Given the description of an element on the screen output the (x, y) to click on. 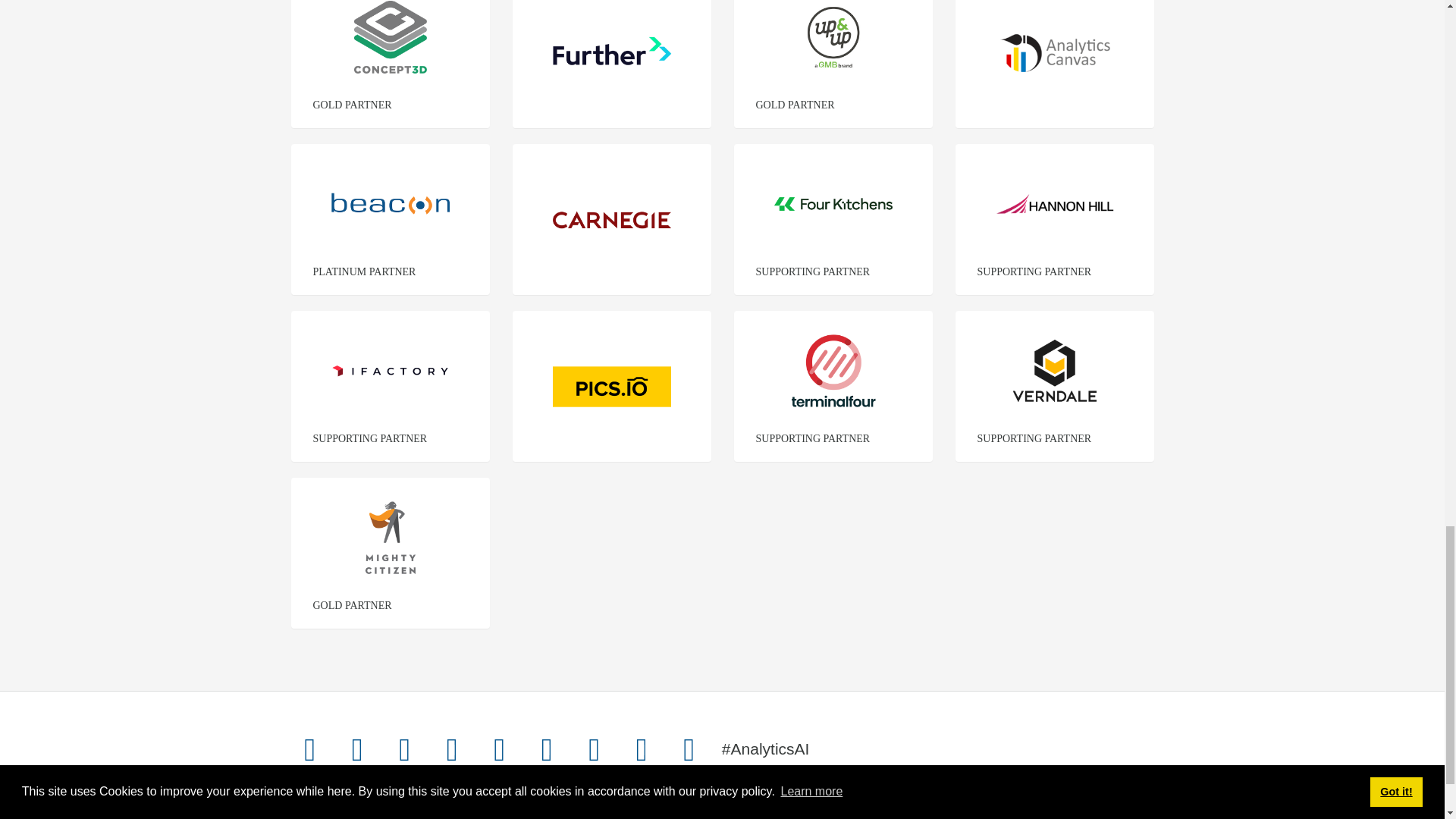
Twitter (309, 748)
